Given the description of an element on the screen output the (x, y) to click on. 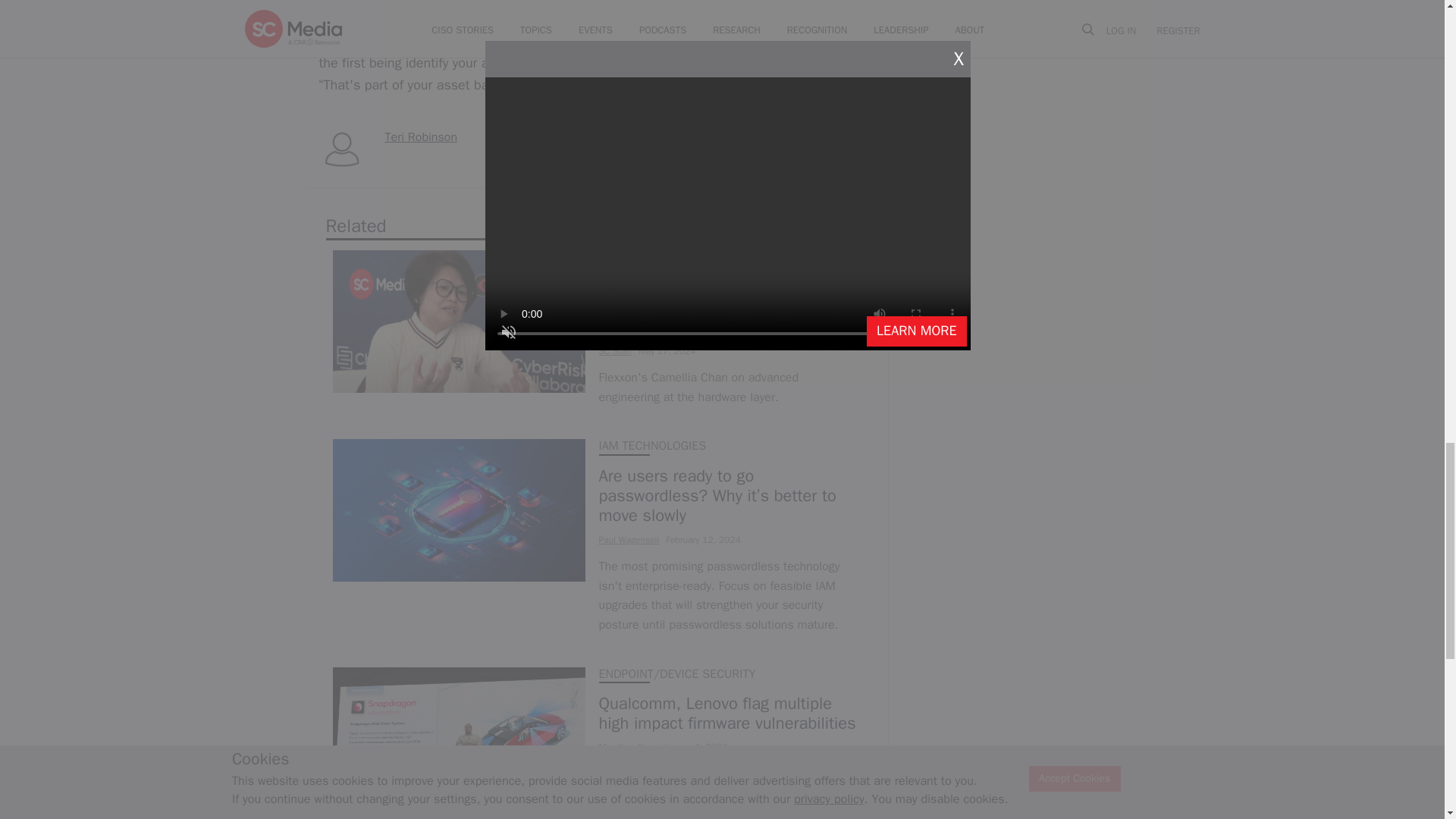
IAM TECHNOLOGIES (652, 445)
Paul Wagenseil (628, 539)
Teri Robinson (421, 136)
NETWORK SECURITY (654, 256)
SC Staff (614, 350)
Menghan Xiao (626, 746)
